Given the description of an element on the screen output the (x, y) to click on. 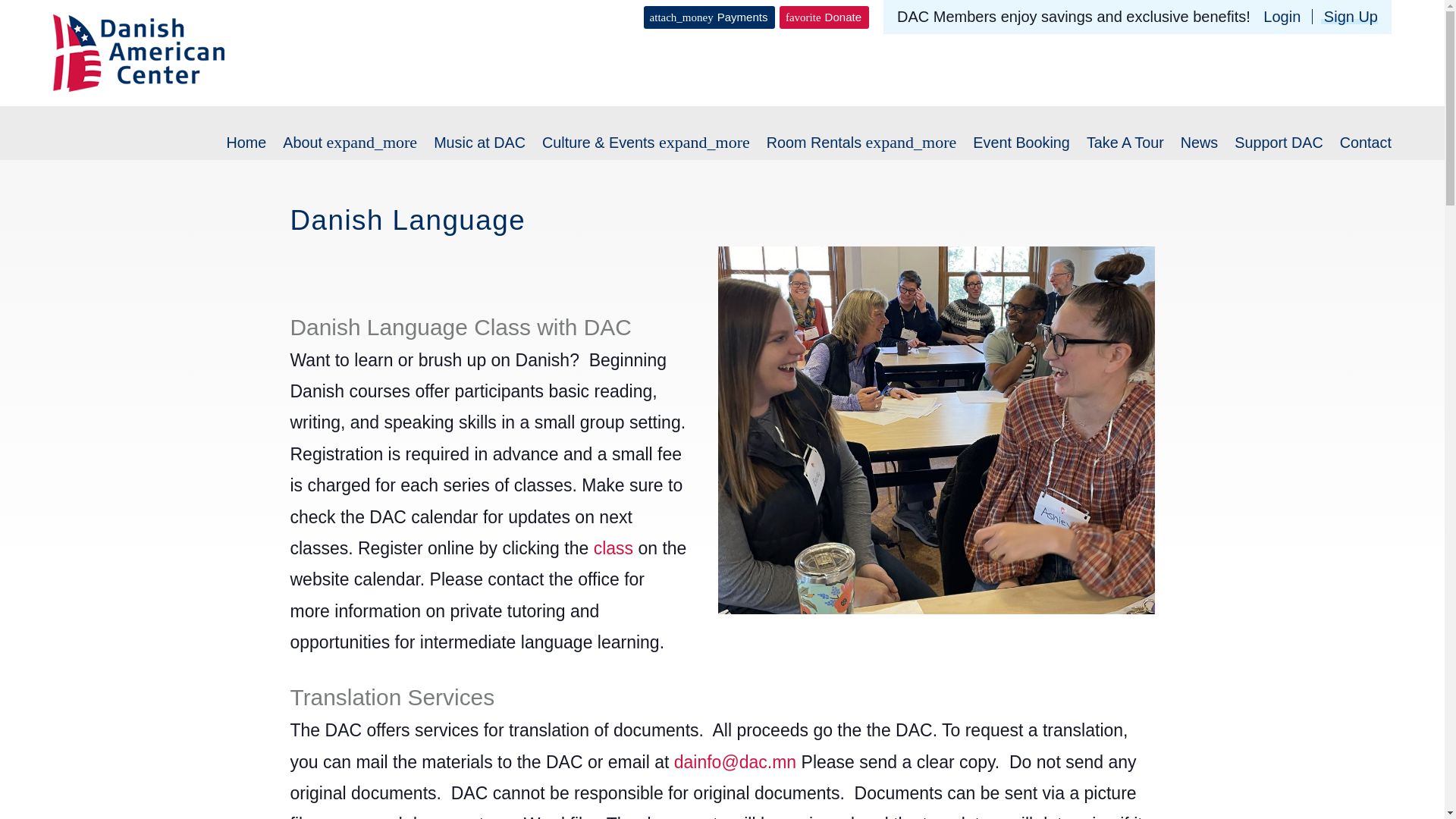
Sign Up (1344, 16)
About (301, 143)
Home (245, 143)
News (1198, 143)
Event Booking (1021, 143)
Room Rentals (814, 143)
favoriteDonate (823, 16)
Login (1281, 16)
Music at DAC (479, 143)
Take A Tour (1124, 143)
